Given the description of an element on the screen output the (x, y) to click on. 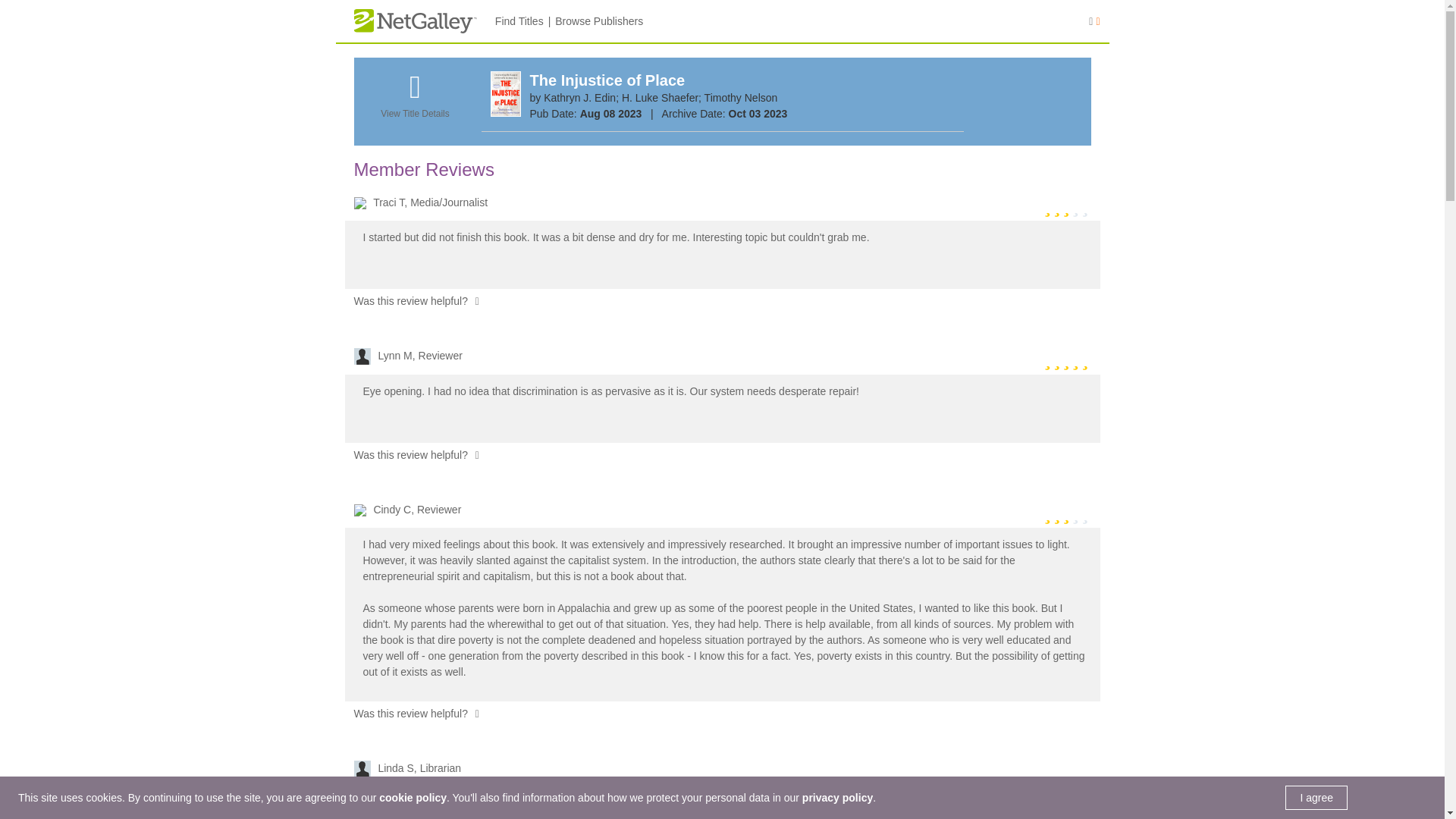
Find Titles (519, 21)
Browse Publishers (598, 21)
View Title Details (414, 104)
The Injustice of Place (606, 80)
